Given the description of an element on the screen output the (x, y) to click on. 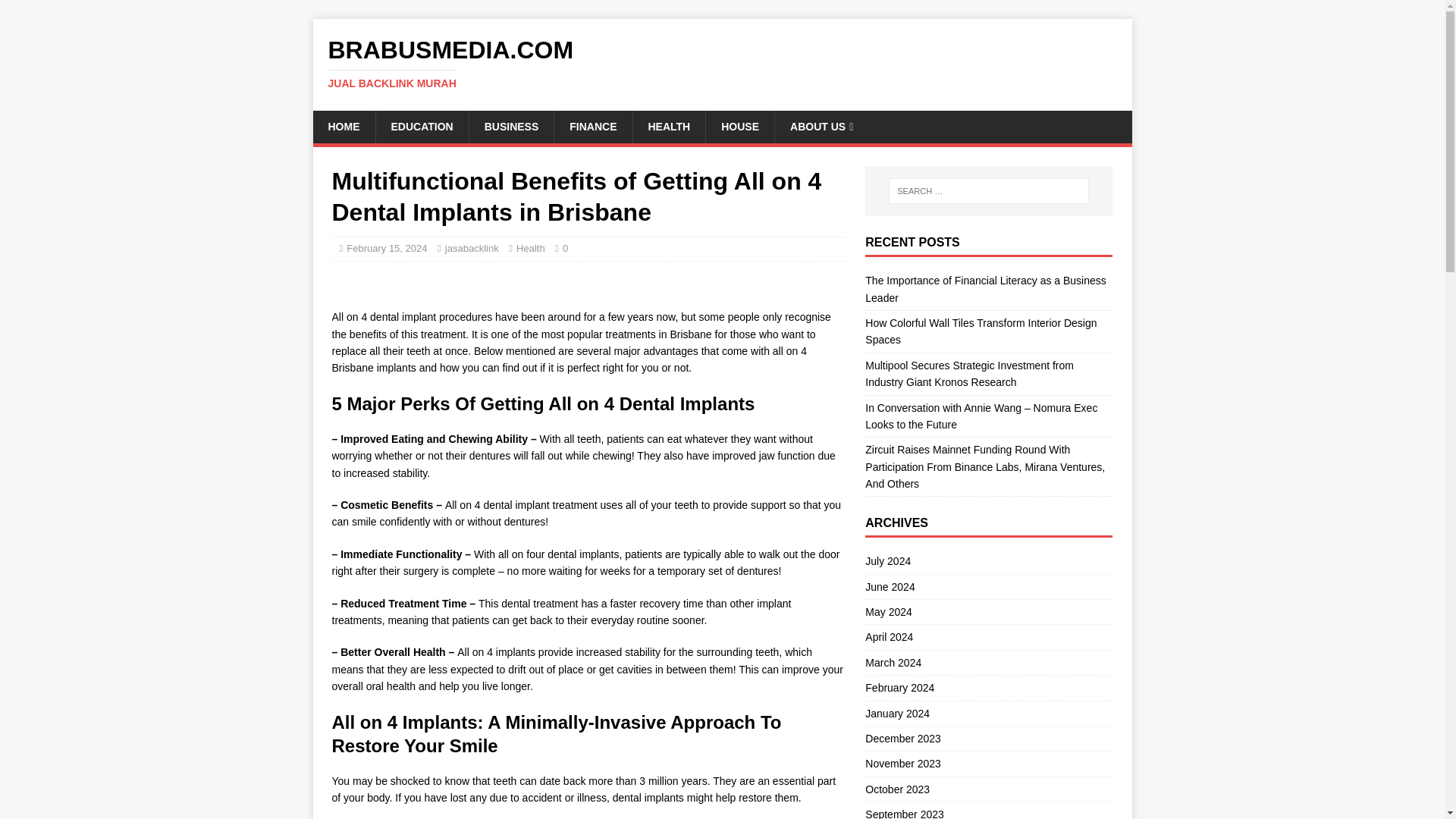
ABOUT US (820, 126)
0 (564, 247)
brabusmedia.com (721, 63)
Search (56, 11)
Health (530, 247)
jasabacklink (472, 247)
EDUCATION (420, 126)
FINANCE (592, 126)
HOUSE (739, 126)
HOME (343, 126)
HEALTH (668, 126)
February 15, 2024 (386, 247)
How Colorful Wall Tiles Transform Interior Design Spaces (980, 330)
The Importance of Financial Literacy as a Business Leader (985, 288)
